Given the description of an element on the screen output the (x, y) to click on. 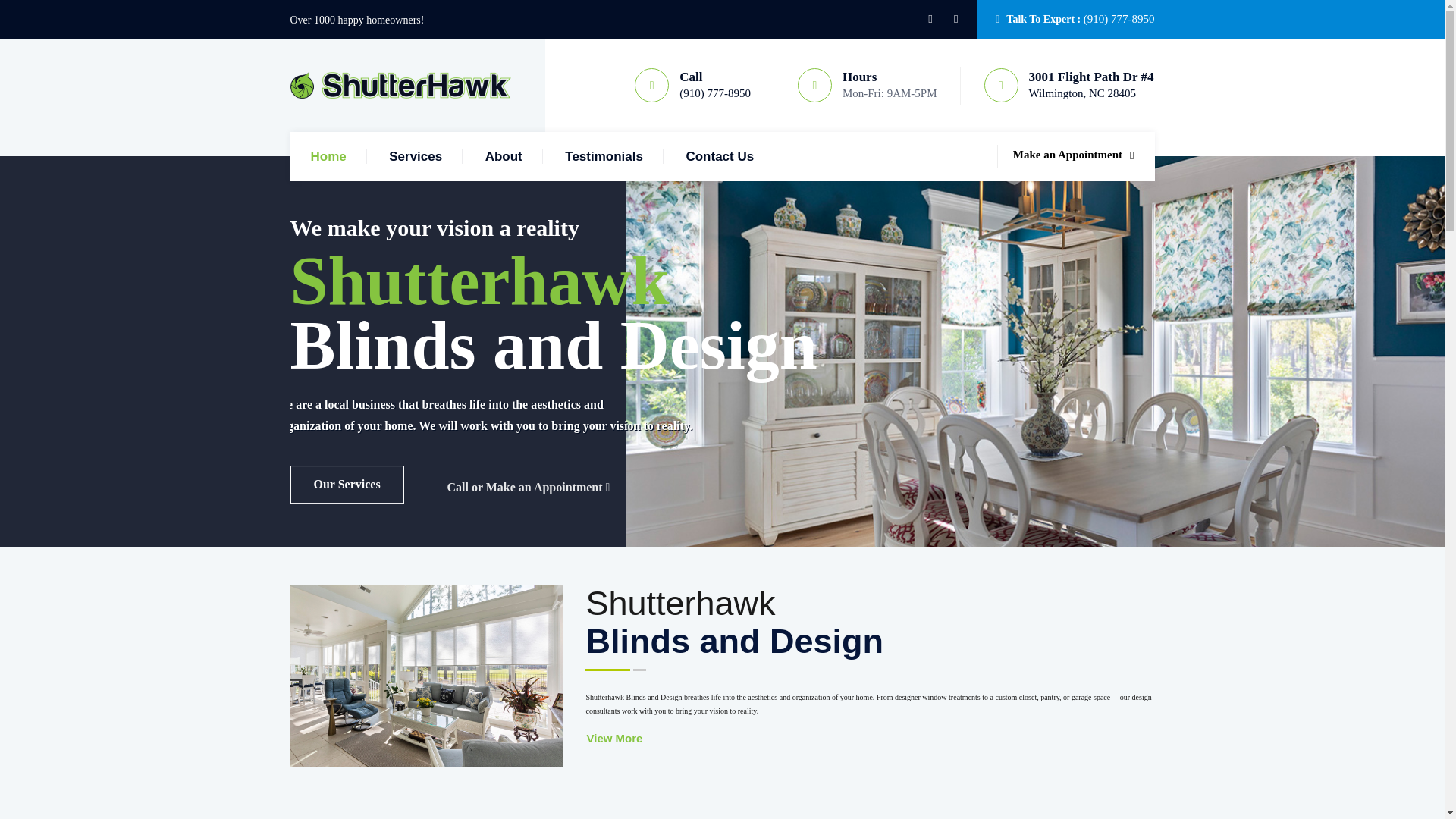
Wilmington, NC 28405 (1082, 92)
Shutterhawk Blinds and Design (400, 85)
Our Services (346, 484)
Services (415, 155)
Call or Make an Appointment (529, 487)
Make an Appointment (1073, 154)
View More (614, 738)
Contact Us (719, 155)
Testimonials (603, 155)
